Given the description of an element on the screen output the (x, y) to click on. 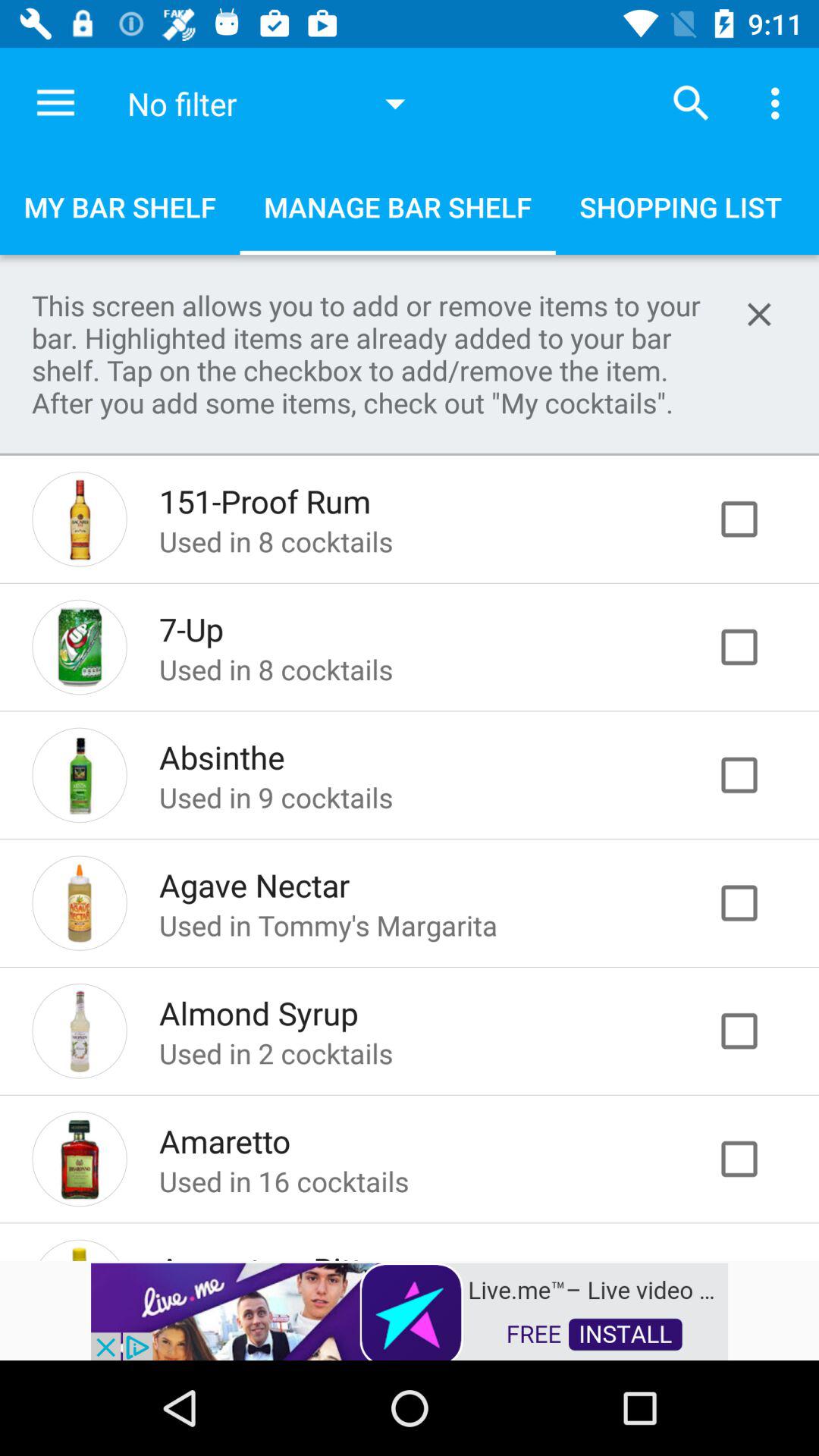
close button (759, 314)
